Given the description of an element on the screen output the (x, y) to click on. 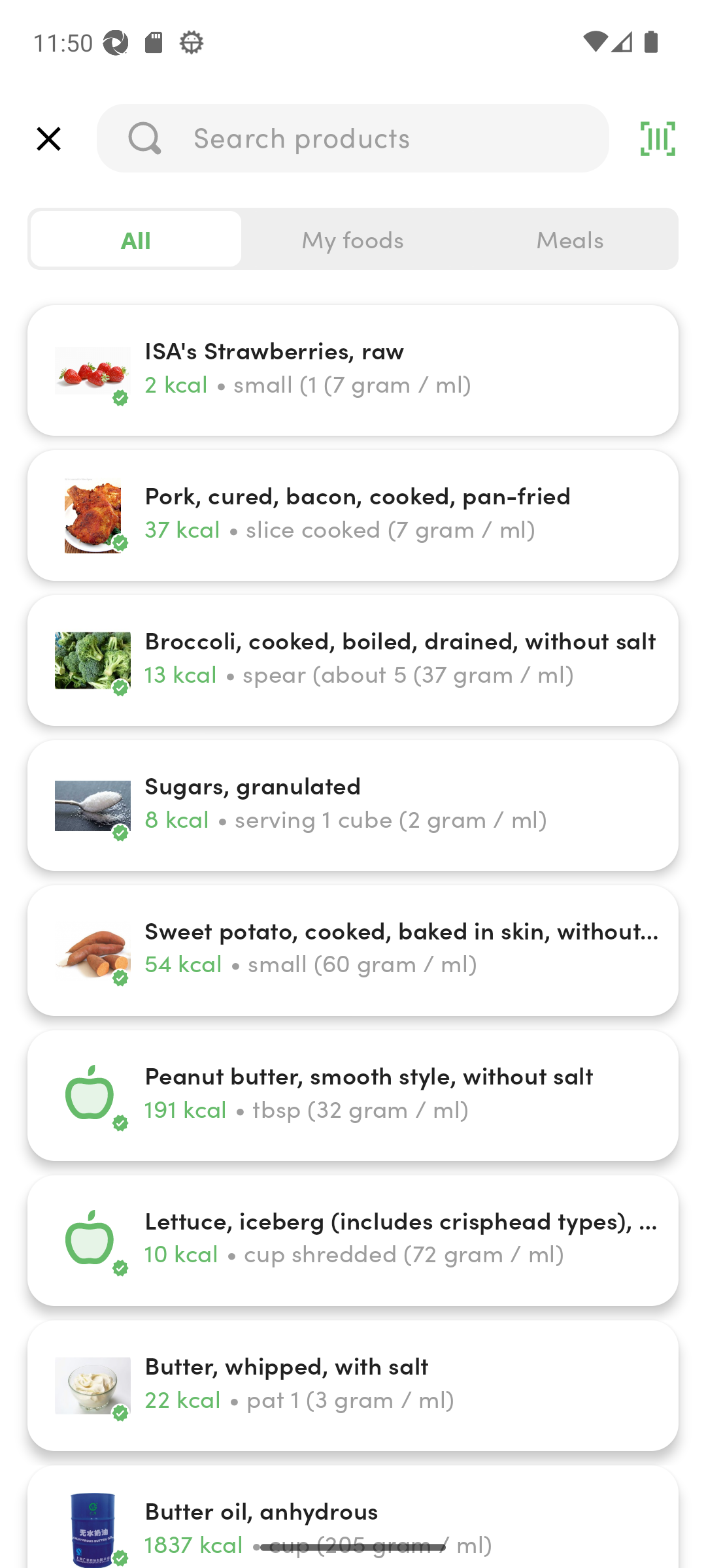
top_left_action (48, 138)
top_right_action (658, 138)
My foods (352, 238)
Meals (569, 238)
